Given the description of an element on the screen output the (x, y) to click on. 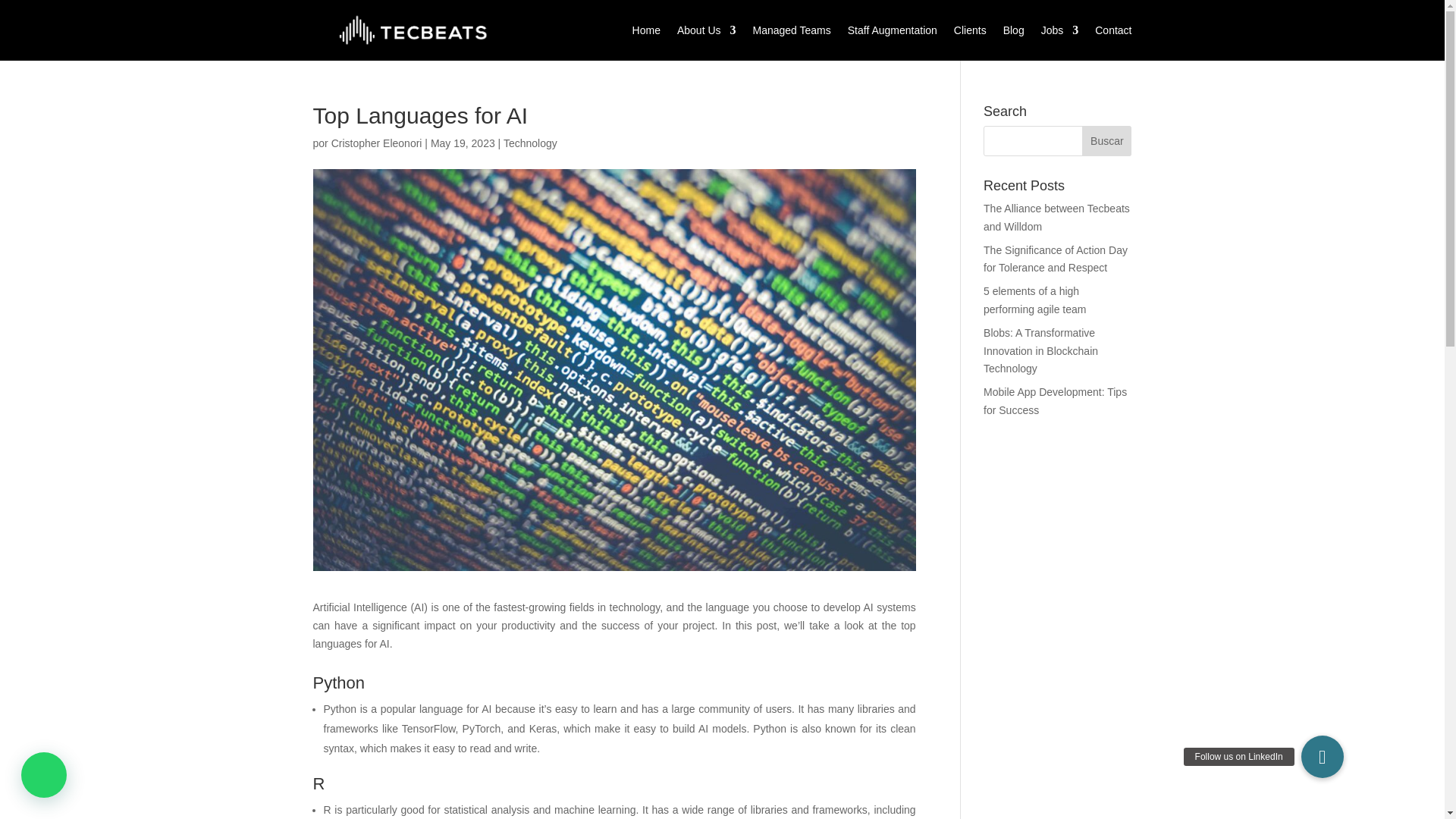
Buscar (1106, 141)
5 elements of a high performing agile team (1035, 300)
Blobs: A Transformative Innovation in Blockchain Technology (1040, 350)
Staff Augmentation (892, 29)
Cristopher Eleonori (376, 143)
About Us (706, 29)
Mobile App Development: Tips for Success (1055, 400)
Mensajes de Cristopher Eleonori (376, 143)
The Alliance between Tecbeats and Willdom (1056, 217)
Managed Teams (791, 29)
The Significance of Action Day for Tolerance and Respect (1055, 259)
Technology (530, 143)
Buscar (1106, 141)
